Given the description of an element on the screen output the (x, y) to click on. 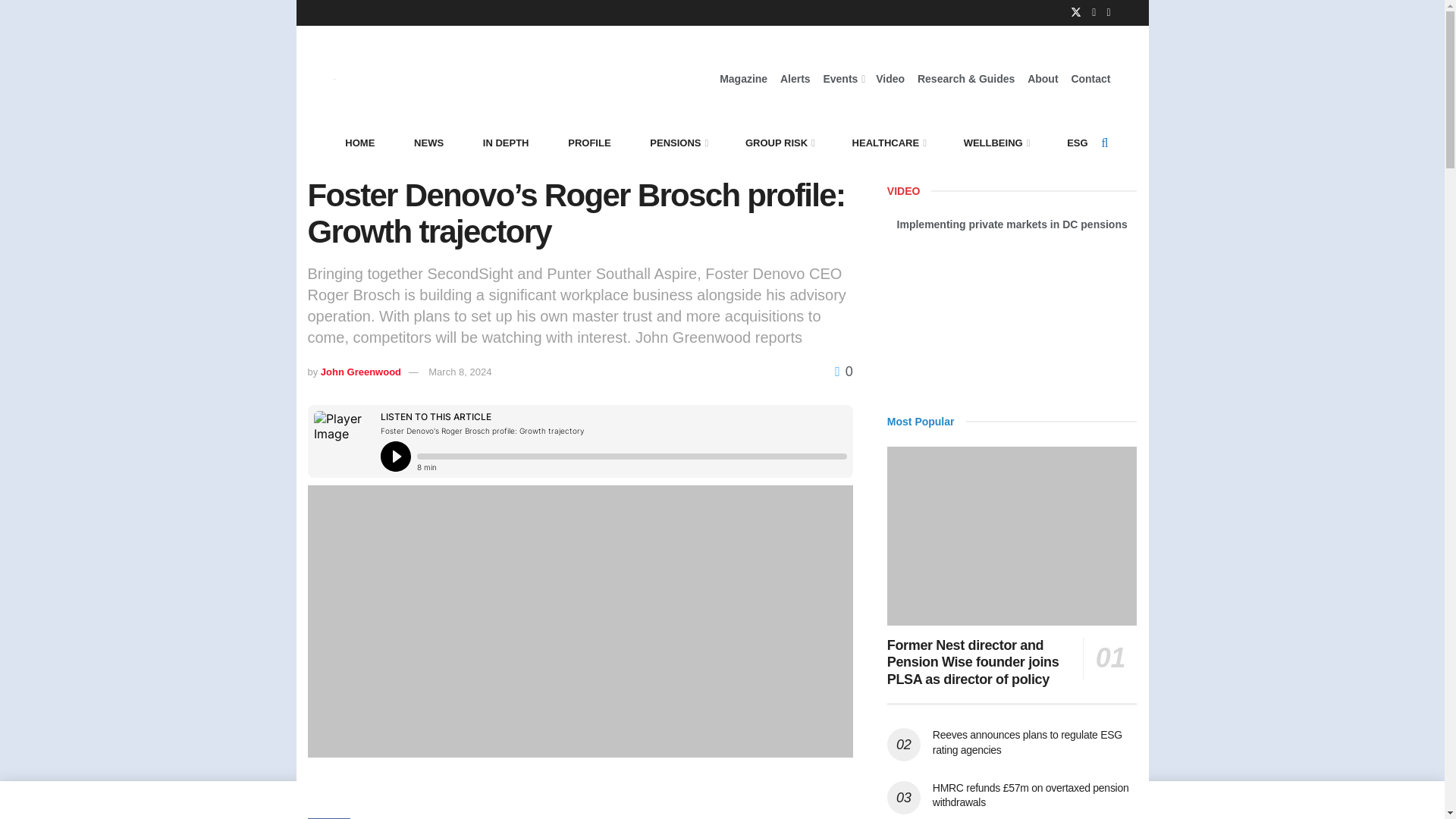
PROFILE (588, 142)
GROUP RISK (778, 142)
Events (842, 78)
NEWS (428, 142)
HOME (359, 142)
Contact (1089, 78)
HEALTHCARE (888, 142)
PENSIONS (678, 142)
Magazine (743, 78)
IN DEPTH (505, 142)
